Given the description of an element on the screen output the (x, y) to click on. 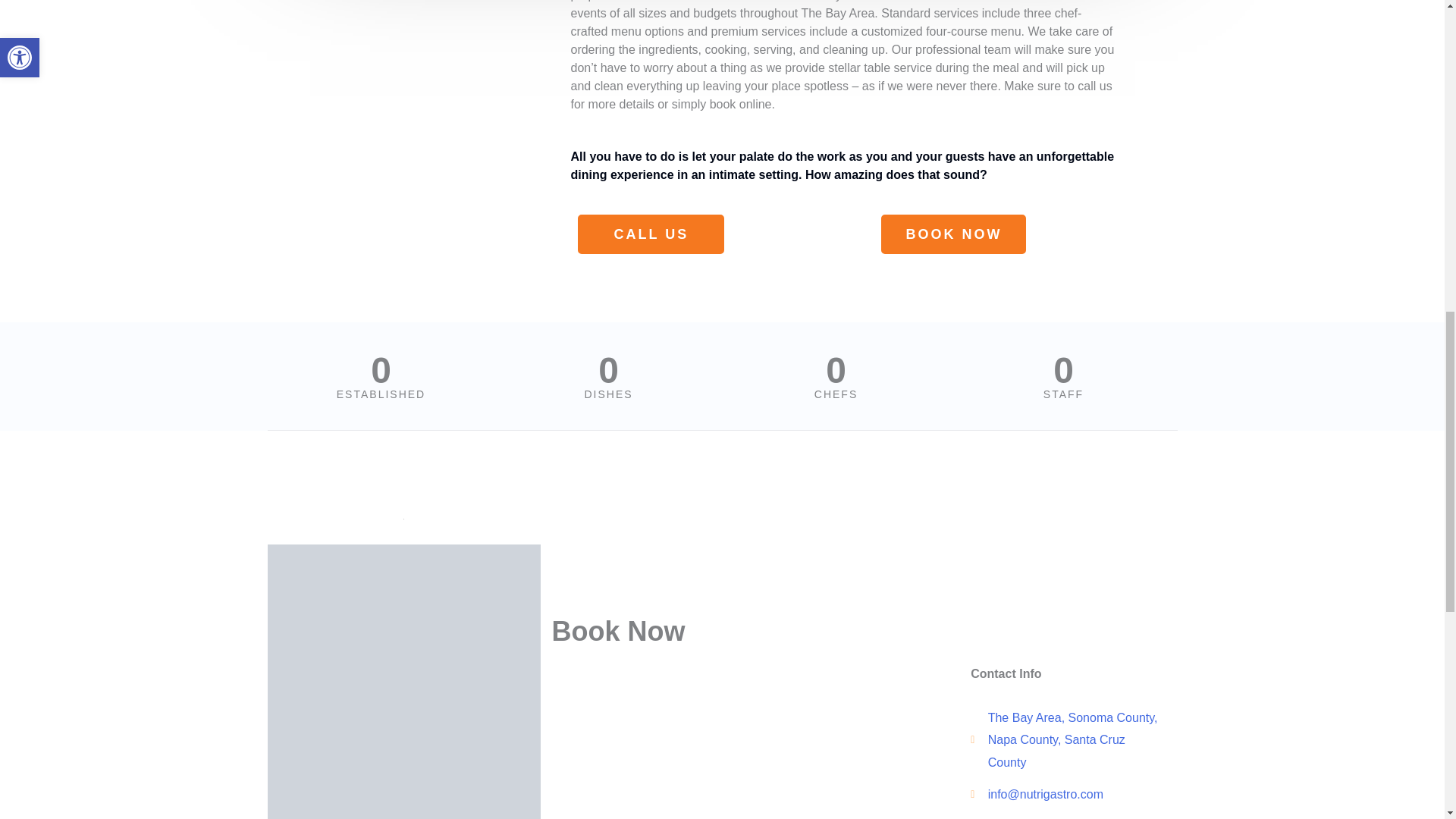
CALL US (650, 233)
The Bay Area, Sonoma County, Napa County, Santa Cruz County (1064, 739)
BOOK NOW (953, 233)
855 412 5099 (1064, 816)
